Given the description of an element on the screen output the (x, y) to click on. 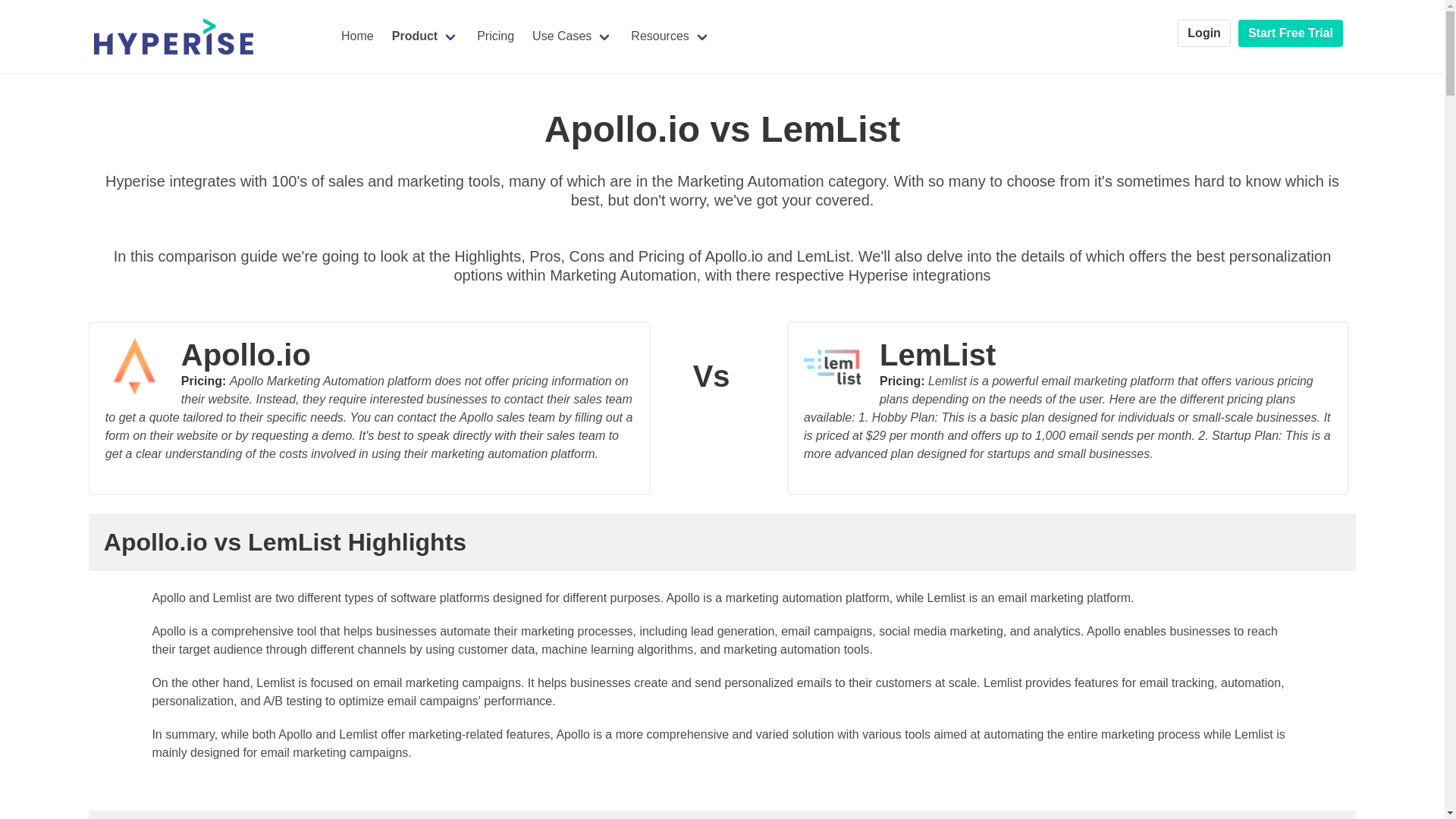
Use Cases (571, 36)
Product (424, 36)
Login (1203, 32)
Pricing (494, 36)
Apollo.io (368, 362)
Home (356, 36)
Start Free Trial (1290, 32)
LemList logo (841, 366)
Resources (670, 36)
Apollo.io logo (142, 366)
